Given the description of an element on the screen output the (x, y) to click on. 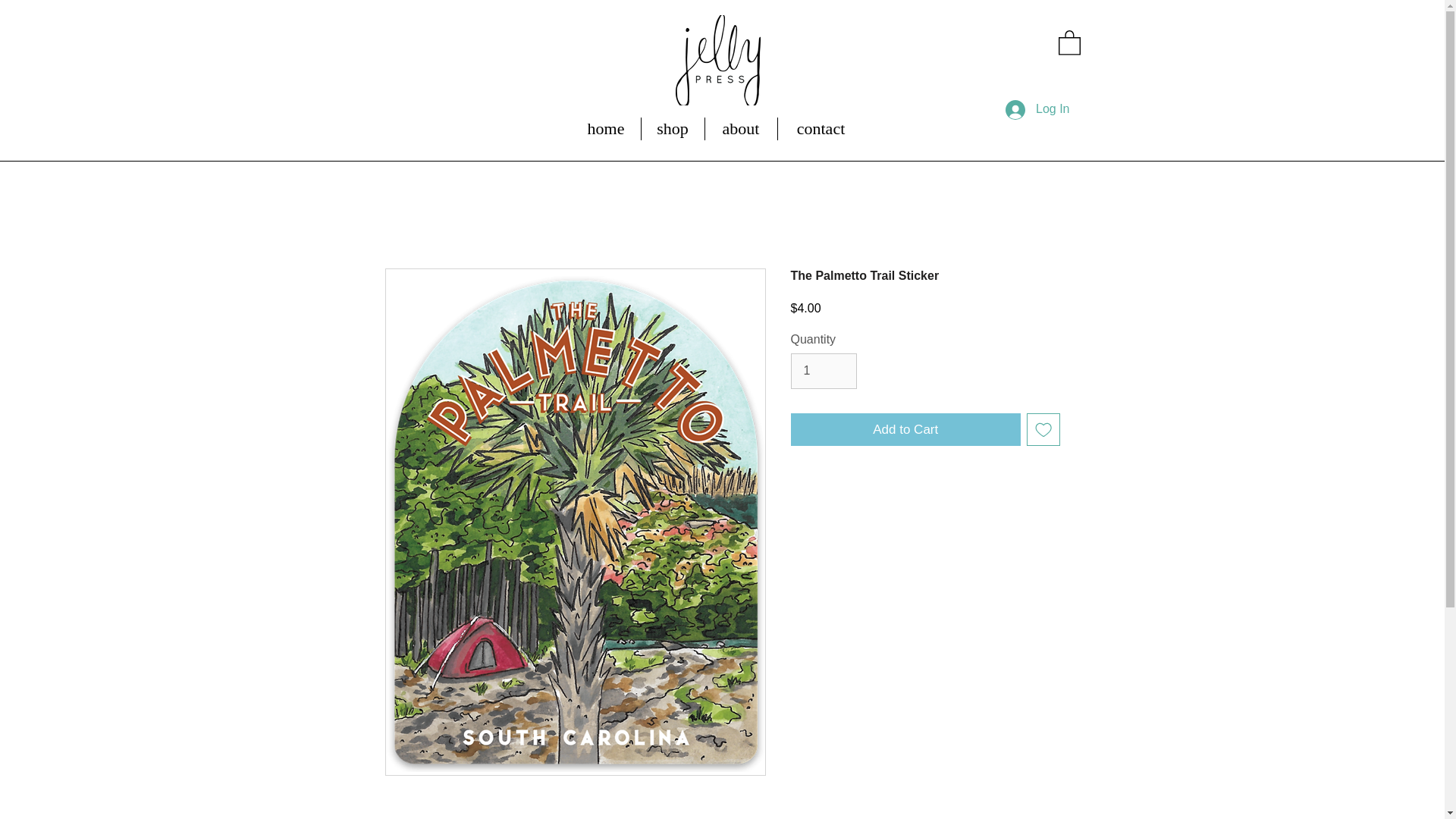
contact (820, 128)
Add to Cart (905, 429)
about (740, 128)
home (606, 128)
1 (823, 370)
shop (673, 128)
Log In (1037, 109)
